Given the description of an element on the screen output the (x, y) to click on. 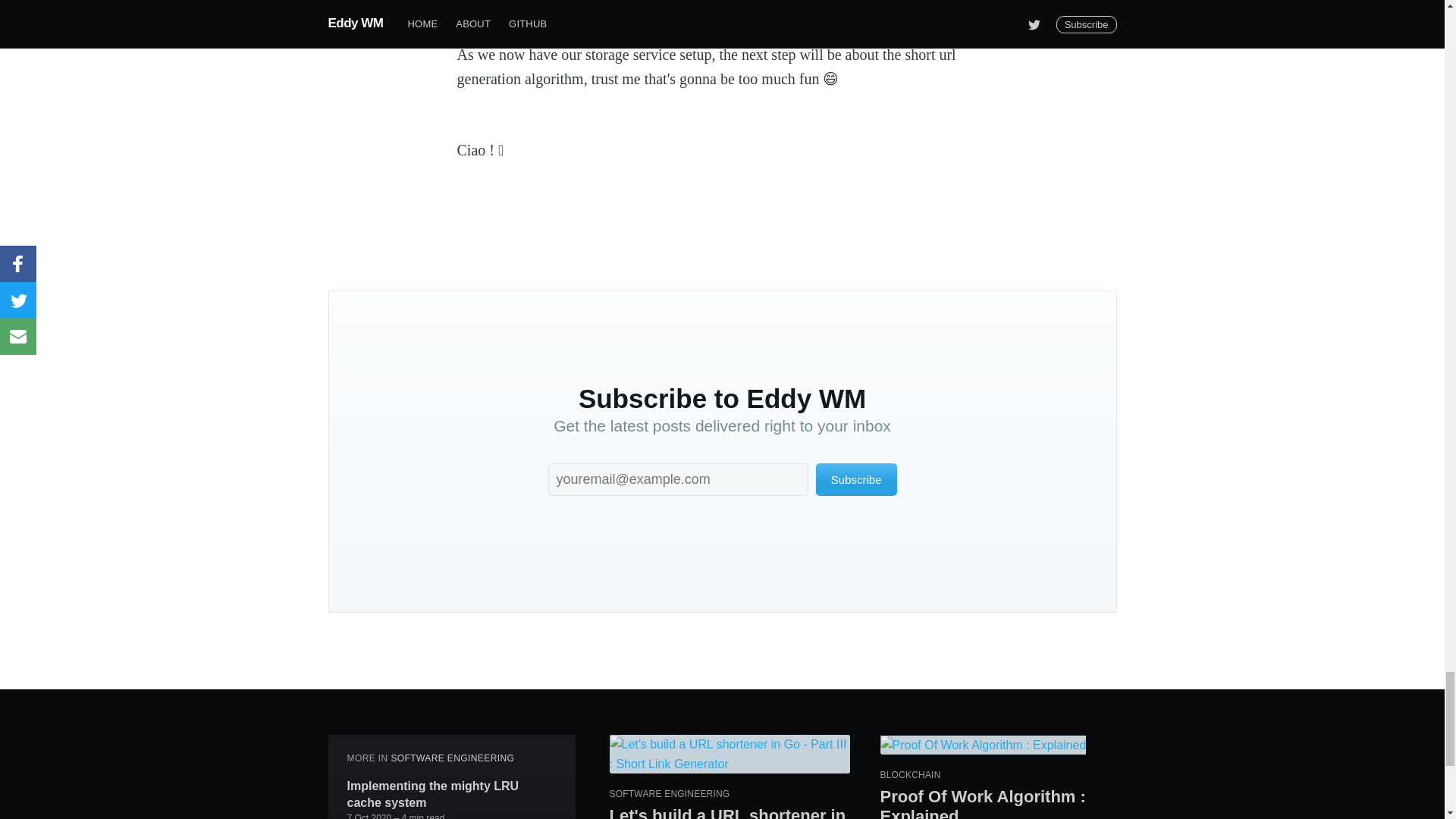
Subscribe (855, 479)
Implementing the mighty LRU cache system (451, 794)
SOFTWARE ENGINEERING (451, 757)
